Given the description of an element on the screen output the (x, y) to click on. 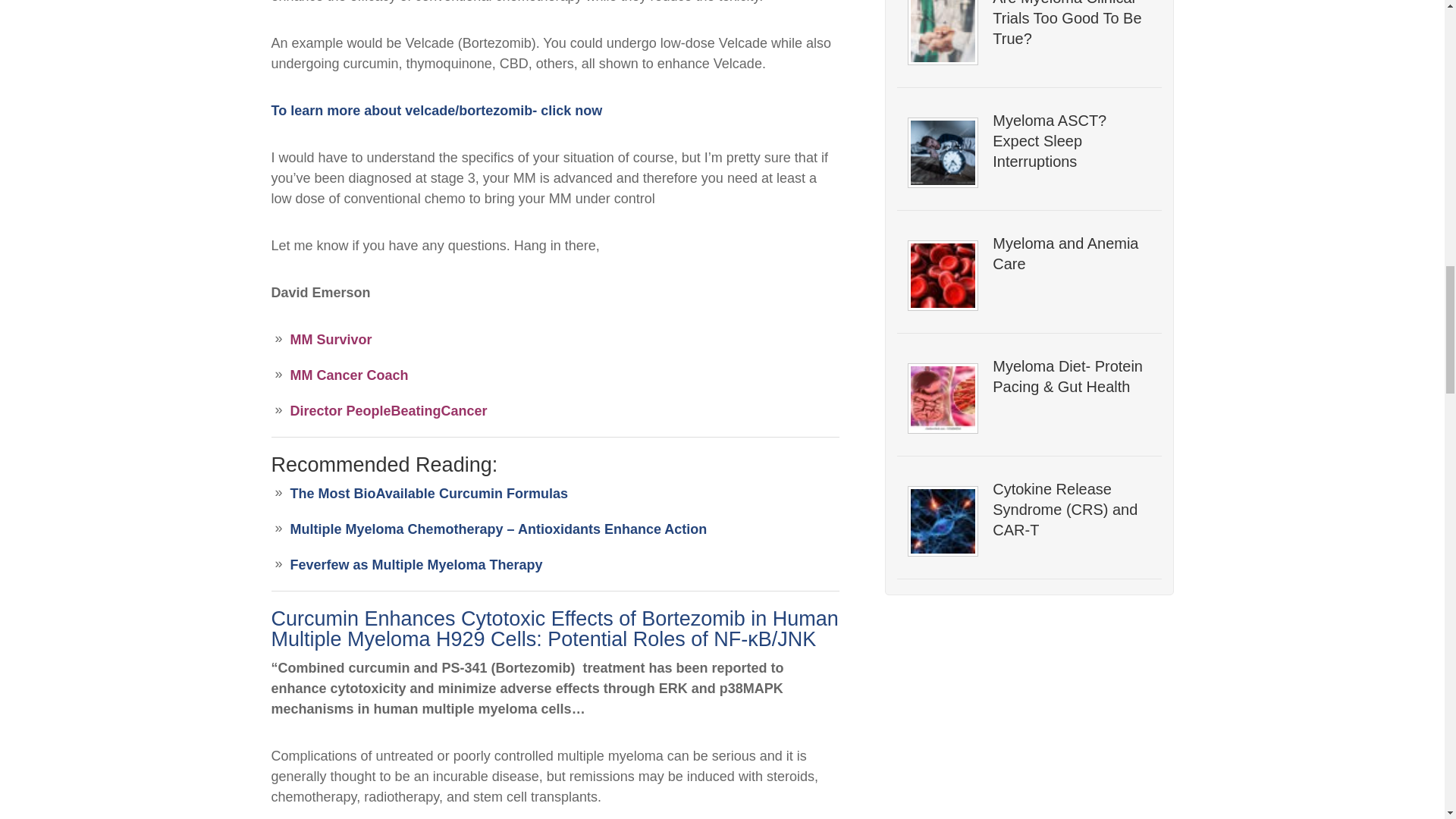
Myeloma ASCT? Expect Sleep Interruptions (1071, 140)
Are Myeloma Clinical Trials Too Good To Be True? (1071, 24)
Myeloma and Anemia Care (1071, 253)
